Given the description of an element on the screen output the (x, y) to click on. 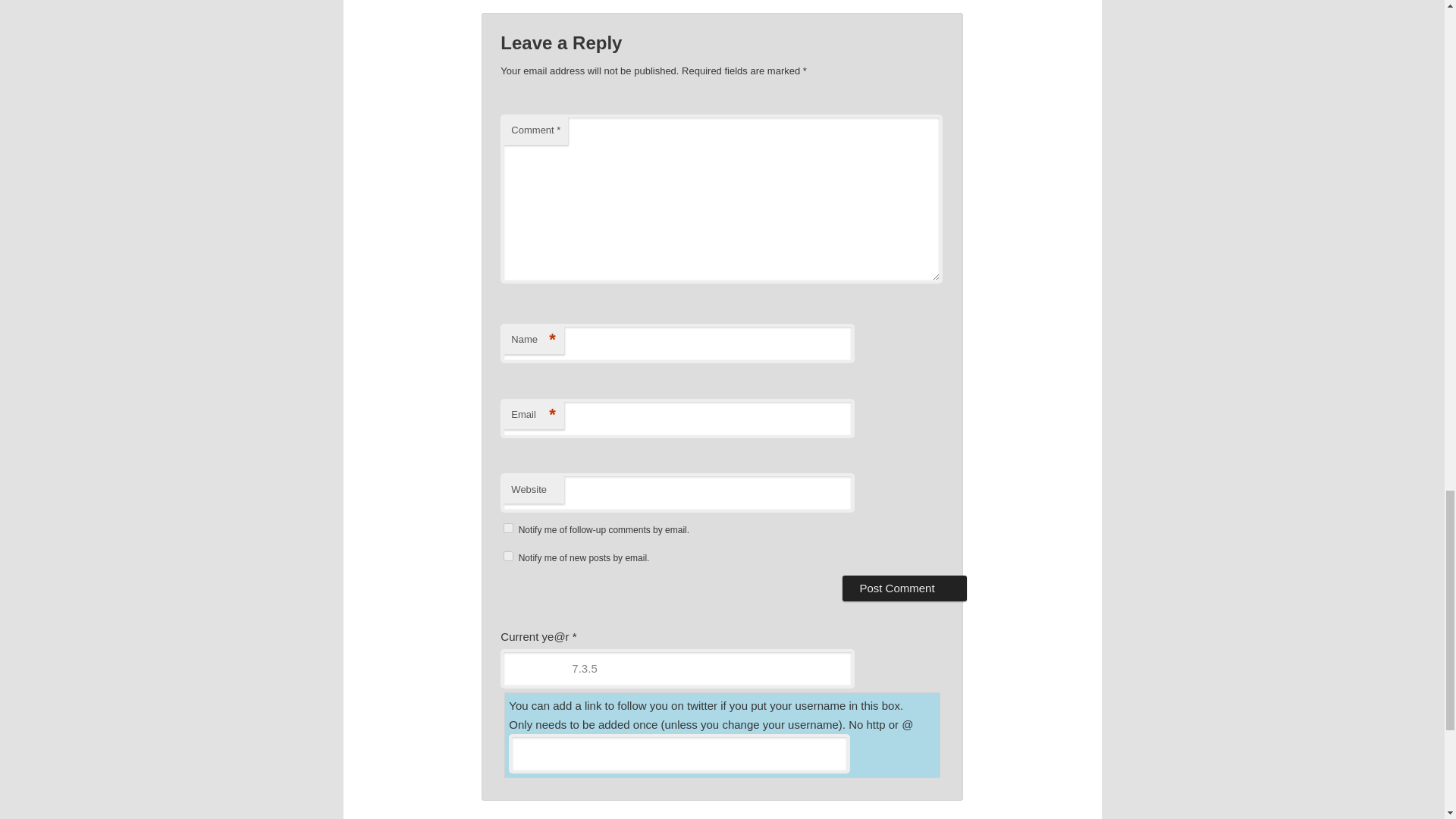
subscribe (508, 528)
Post Comment (904, 588)
subscribe (508, 556)
7.3.5 (676, 668)
Post Comment (904, 588)
